Given the description of an element on the screen output the (x, y) to click on. 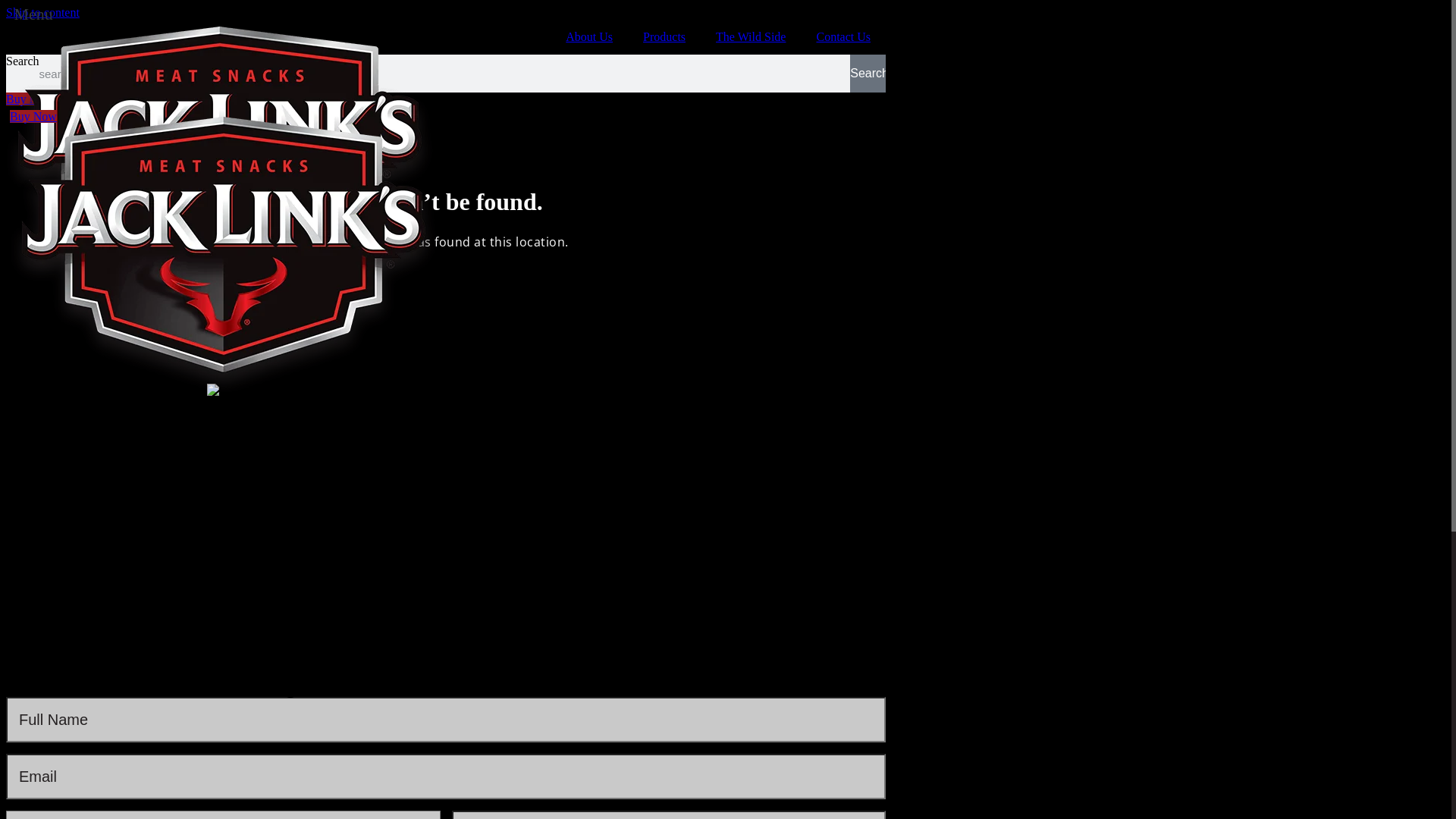
Buy Now Element type: text (29, 98)
Buy Now Element type: text (32, 115)
Products Element type: text (663, 36)
About Us Element type: text (588, 36)
Skip to content Element type: text (42, 12)
Contact Us Element type: text (842, 36)
The Wild Side Element type: text (750, 36)
Search Element type: text (867, 73)
